Given the description of an element on the screen output the (x, y) to click on. 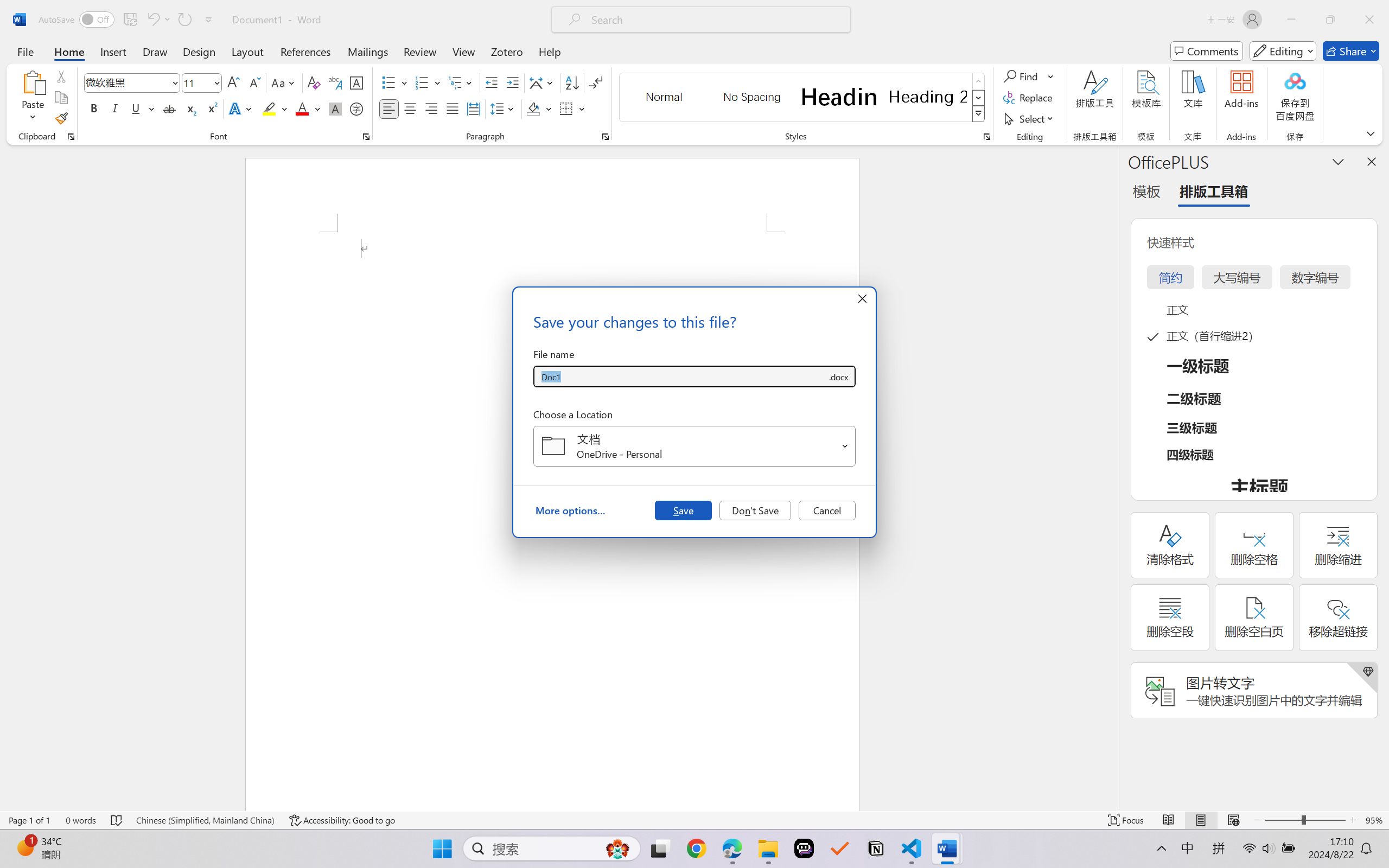
Undo <ApplyStyleToDoc>b__0 (158, 19)
